Given the description of an element on the screen output the (x, y) to click on. 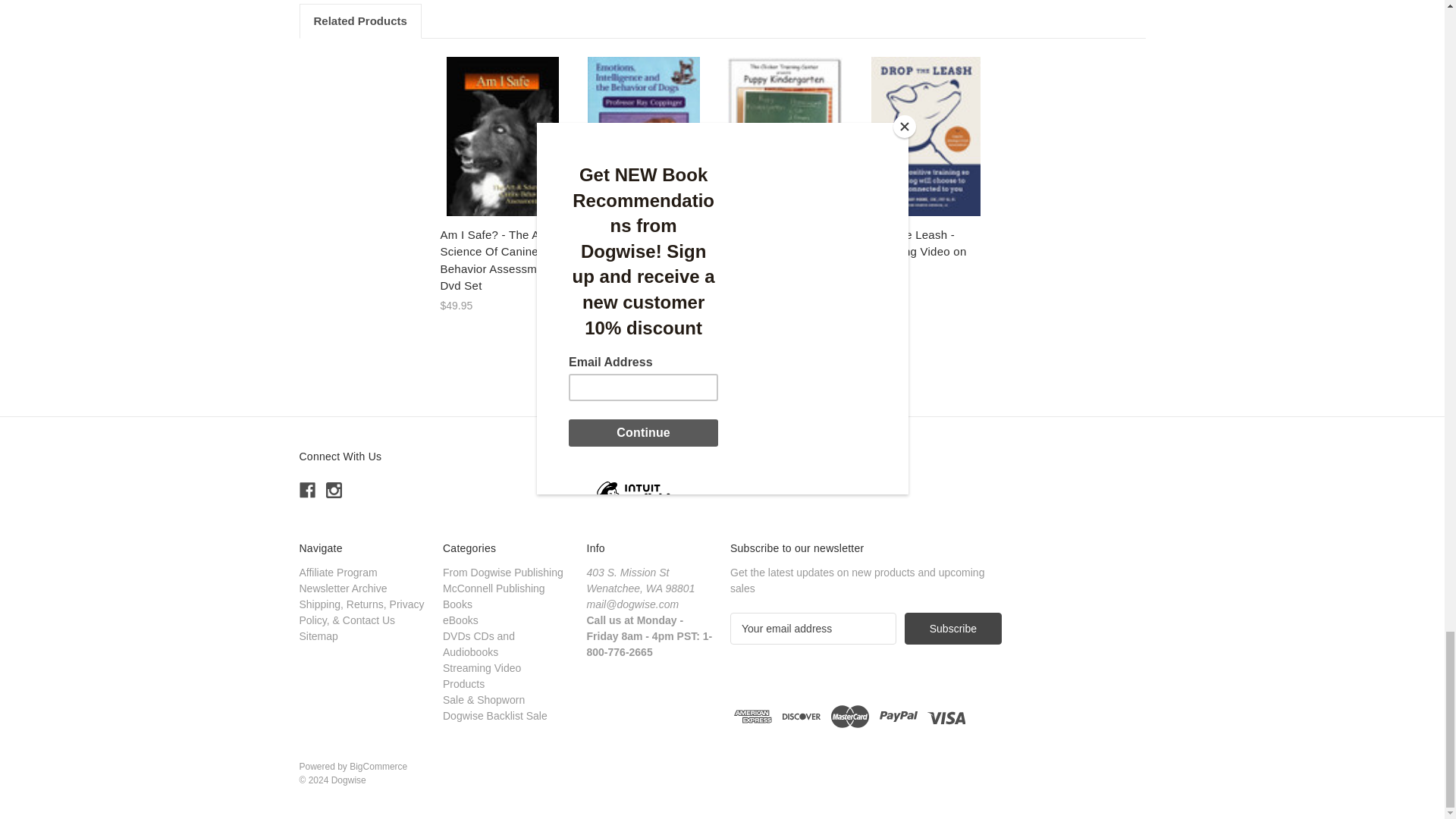
Instagram (334, 489)
Drop The Leash - Streaming Video on Demand (926, 136)
Cover (643, 136)
Subscribe (952, 628)
Facebook (306, 489)
Cover (502, 136)
Puppy Kindergarten - Streaming Video on Demand (785, 136)
